Given the description of an element on the screen output the (x, y) to click on. 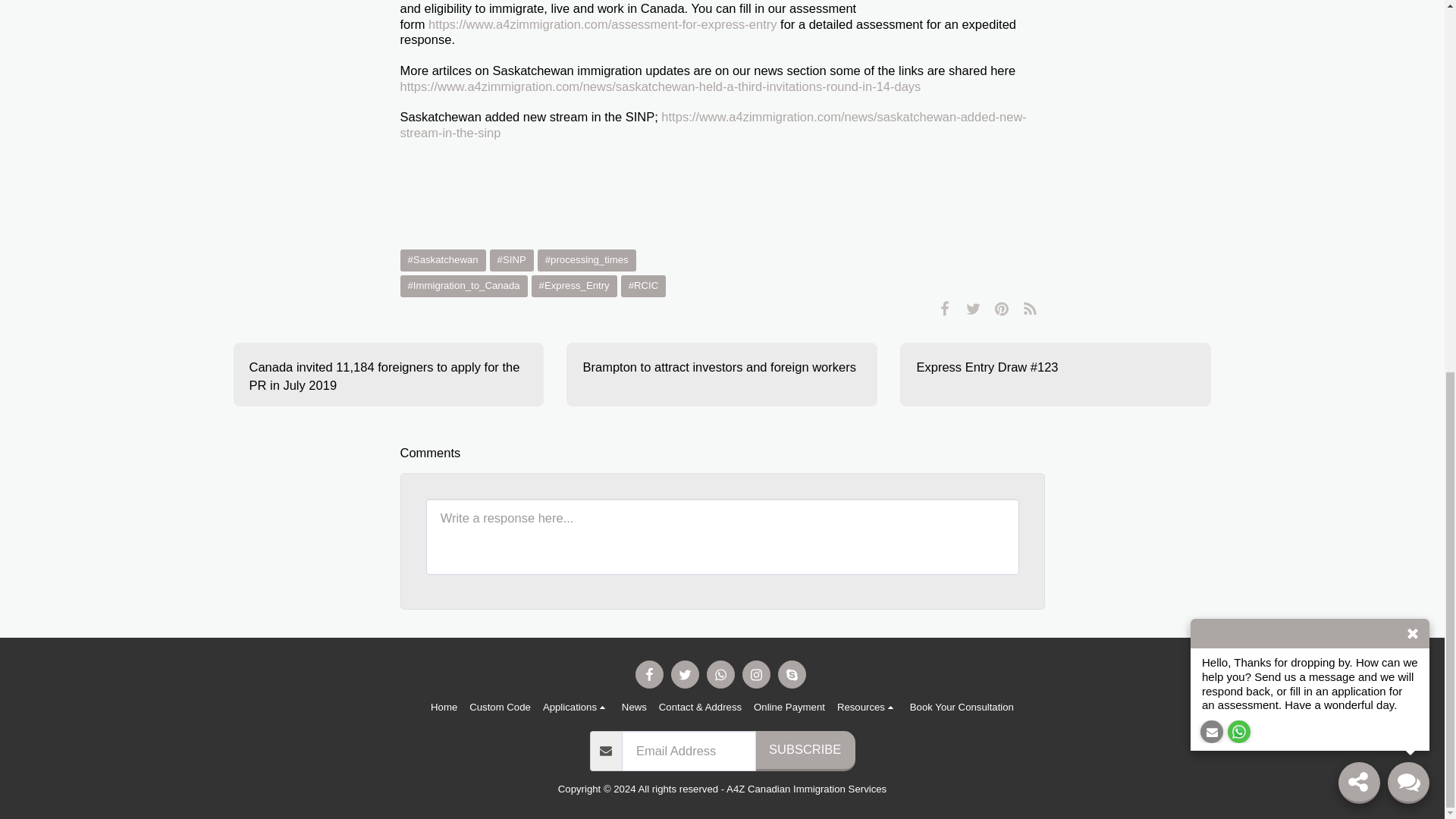
RSS (1029, 308)
Tweet (973, 308)
Pin it (1002, 308)
Share on Facebook (945, 308)
